Given the description of an element on the screen output the (x, y) to click on. 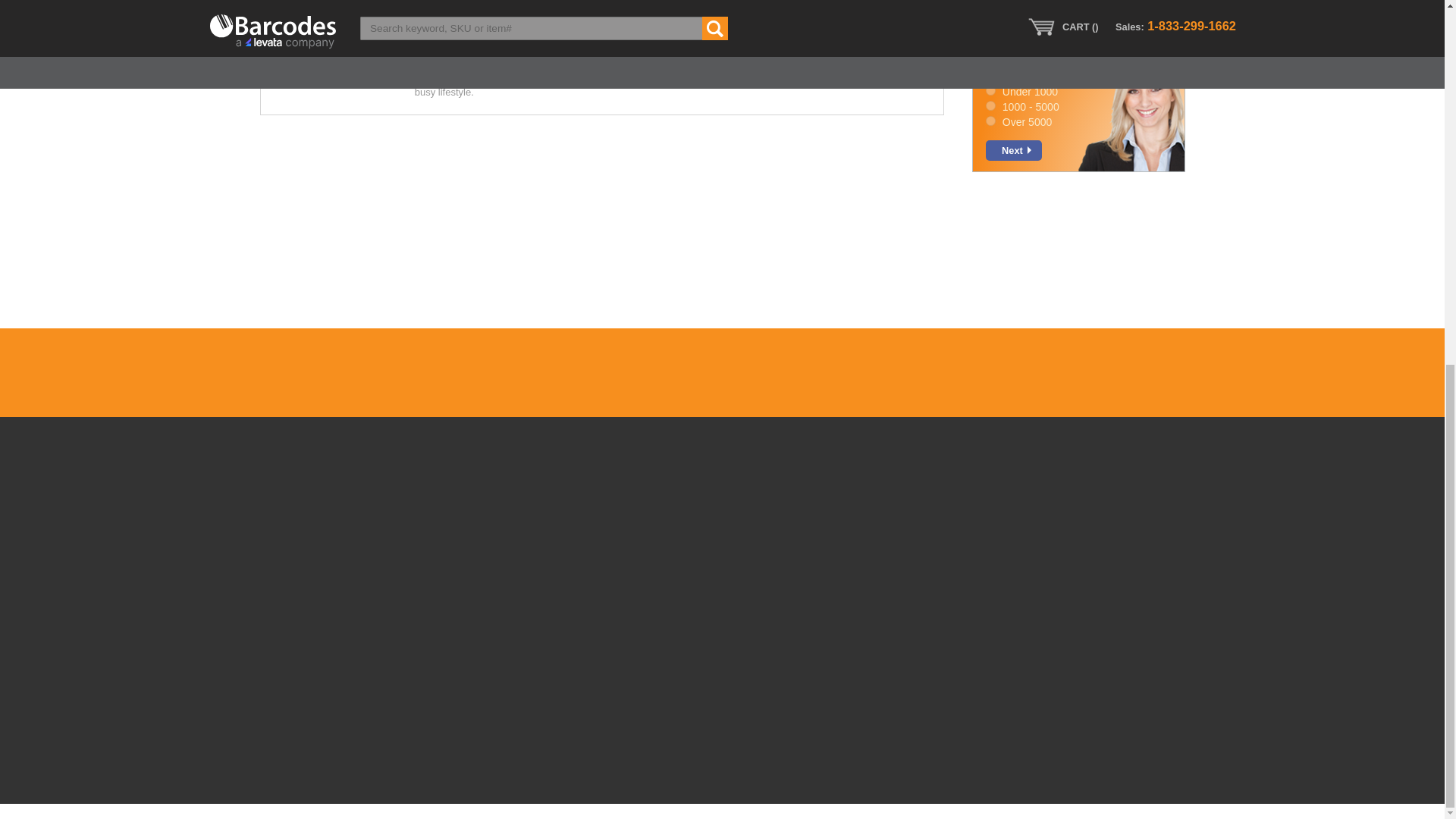
Over 5000 (990, 121)
Under 1000 (990, 90)
1000 - 5000 (990, 105)
Next (1013, 150)
